Given the description of an element on the screen output the (x, y) to click on. 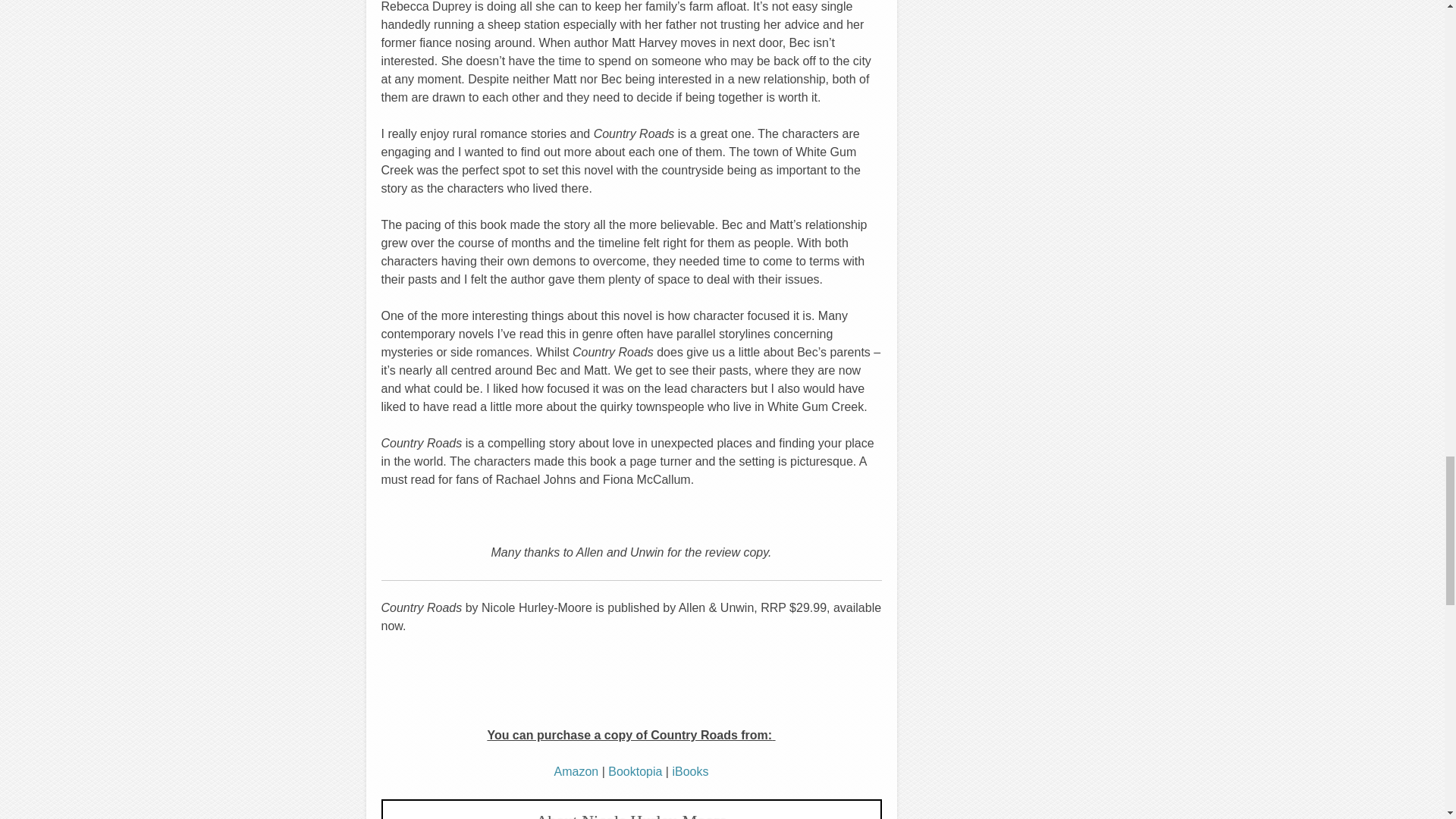
Booktopia (635, 771)
Amazon (575, 771)
iBooks (689, 771)
